Given the description of an element on the screen output the (x, y) to click on. 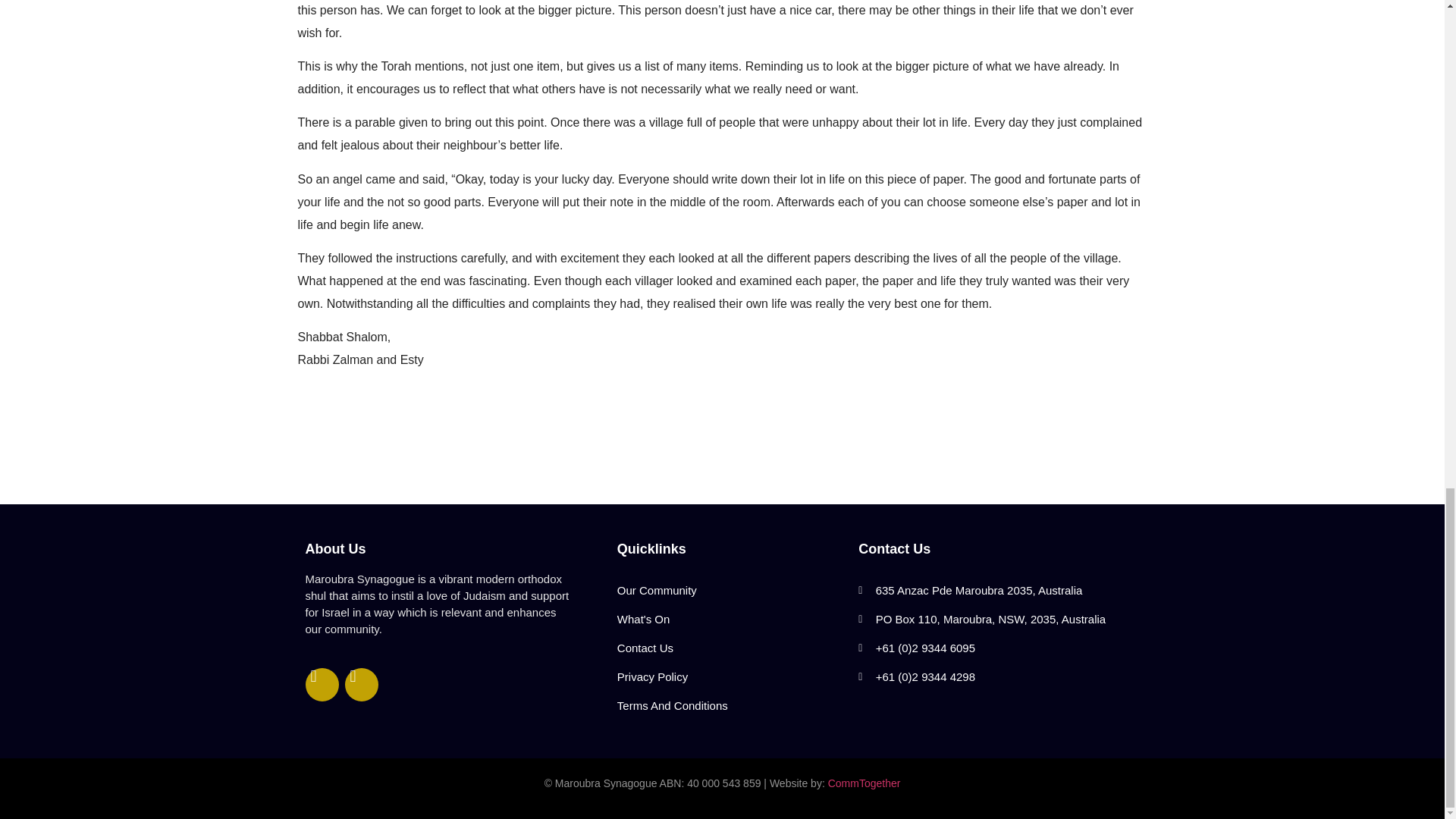
Privacy Policy (730, 676)
Terms And Conditions (730, 705)
What'S On (730, 619)
Our Community (730, 590)
Contact Us (730, 647)
